Given the description of an element on the screen output the (x, y) to click on. 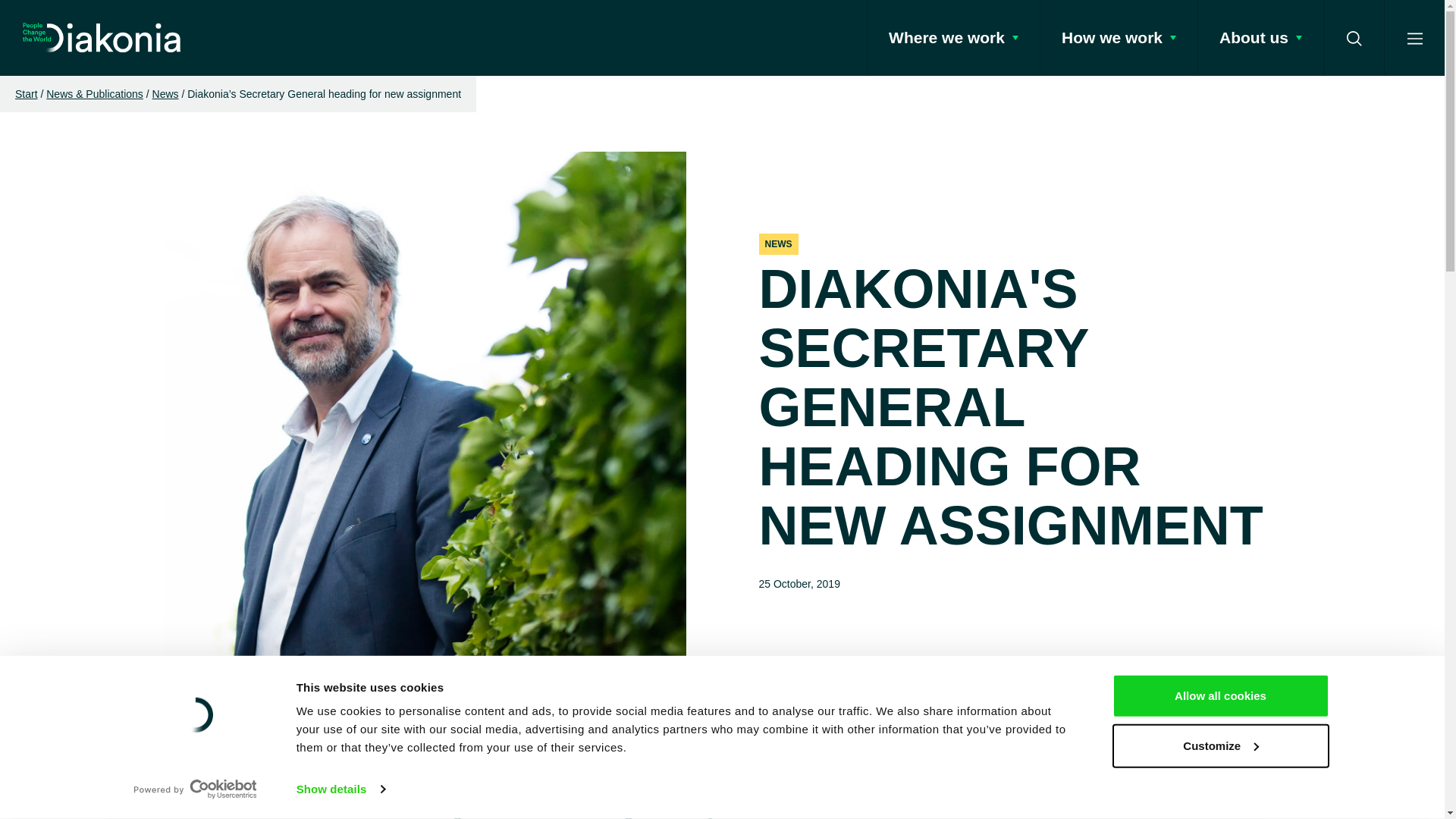
Logo (101, 37)
Customize (1219, 745)
About us (1259, 38)
Where we work (952, 38)
Allow all cookies (1219, 696)
How we work (1117, 38)
Show details (340, 789)
